Given the description of an element on the screen output the (x, y) to click on. 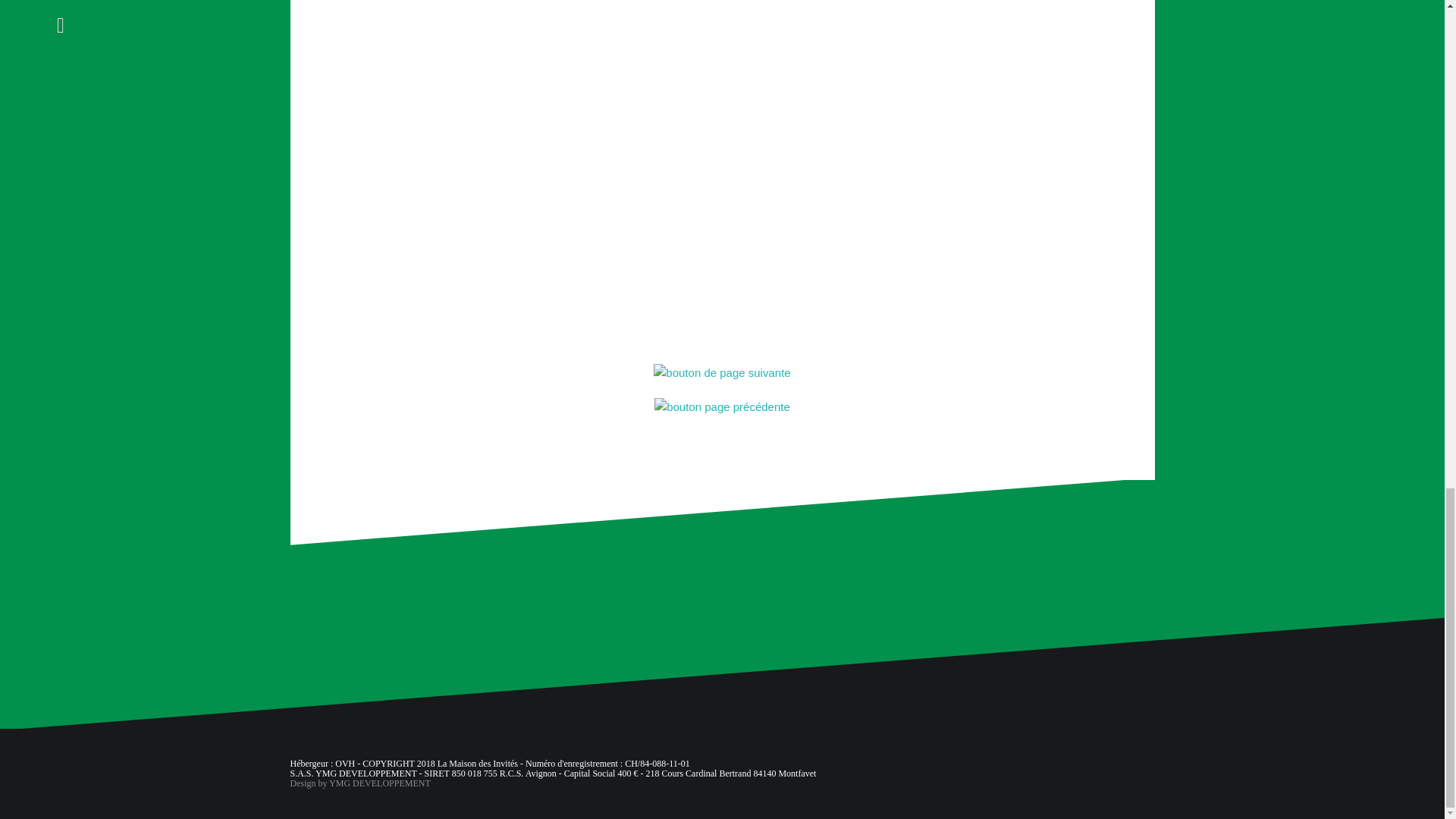
Design by YMG DEVELOPPEMENT (359, 783)
page-precedente (721, 406)
page-suivante (721, 372)
